Given the description of an element on the screen output the (x, y) to click on. 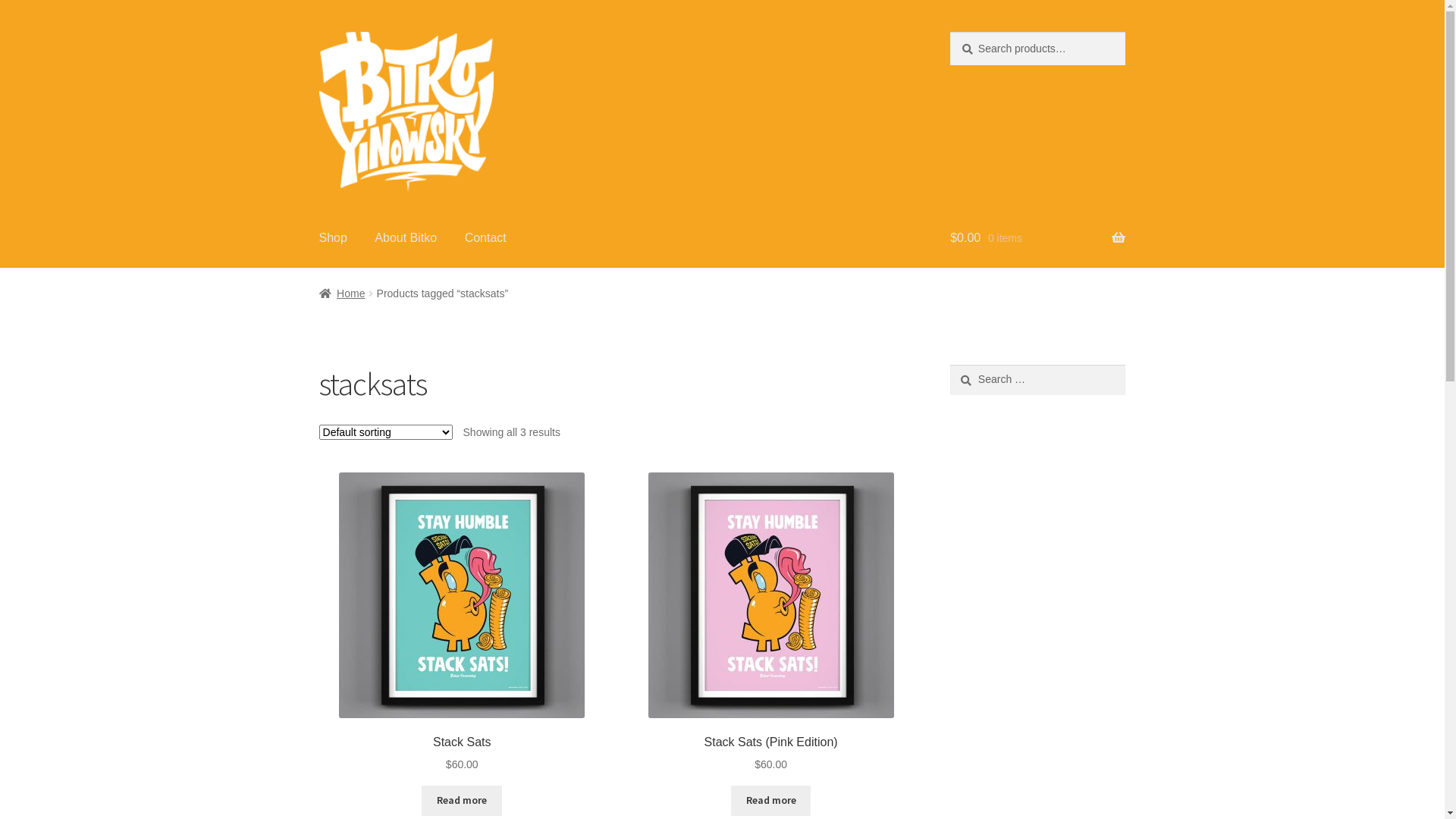
Read more Element type: text (461, 800)
Stack Sats
$60.00 Element type: text (462, 621)
Read more Element type: text (771, 800)
Home Element type: text (342, 293)
Skip to navigation Element type: text (318, 31)
Search Element type: text (949, 31)
$0.00 0 items Element type: text (1037, 237)
Search Element type: text (949, 364)
About Bitko Element type: text (405, 237)
Shop Element type: text (333, 237)
Contact Element type: text (485, 237)
Stack Sats (Pink Edition)
$60.00 Element type: text (770, 621)
